Given the description of an element on the screen output the (x, y) to click on. 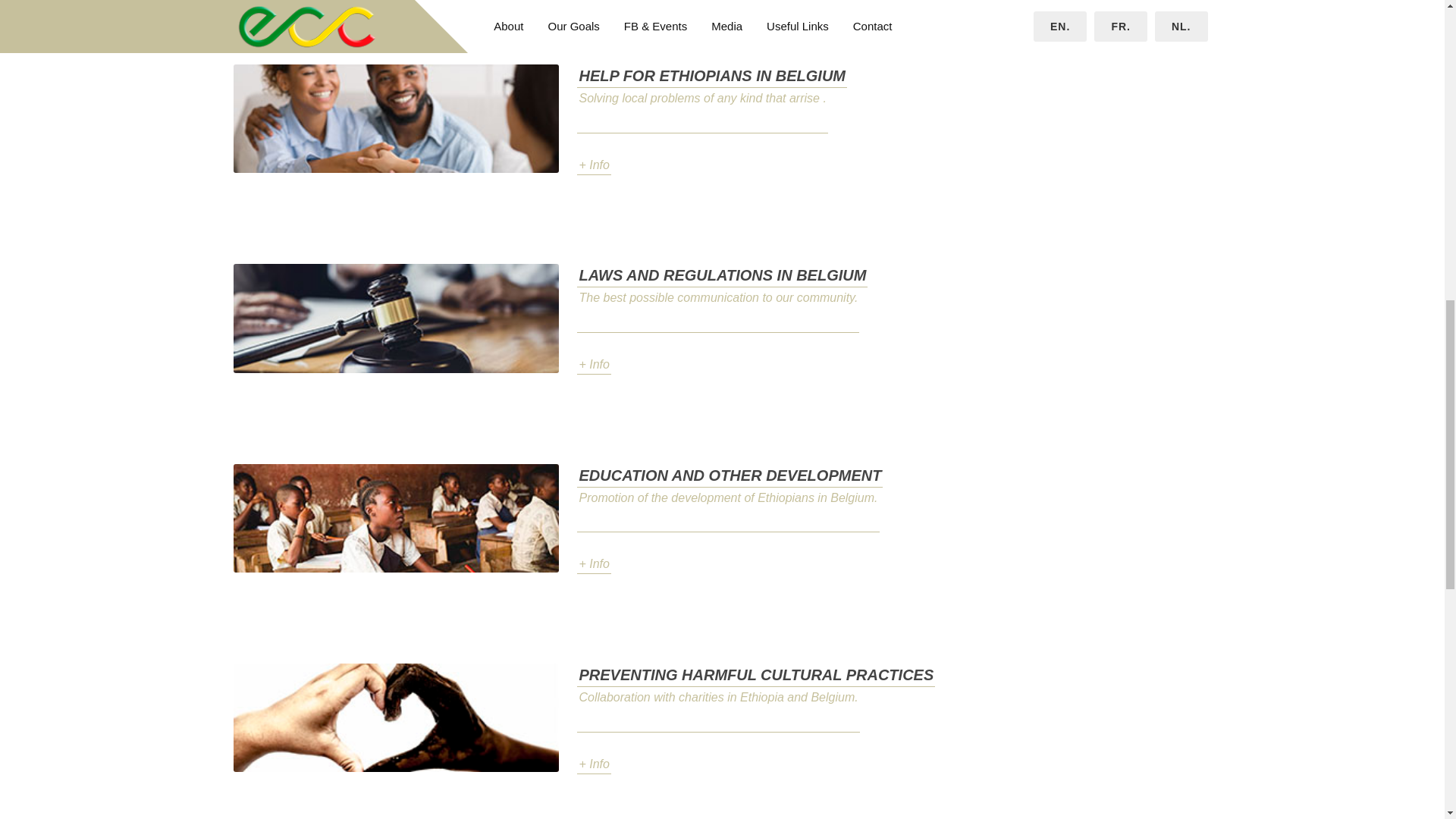
HELP FOR ETHIOPIANS IN BELGIUM (711, 75)
Collaboration with charities in Ethiopia and Belgium. (717, 709)
EDUCATION AND OTHER DEVELOPMENT (729, 475)
Promotion of the development of Ethiopians in Belgium. (727, 510)
Solving local problems of any kind that arrise . (701, 110)
The best possible communication to our community. (717, 309)
PREVENTING HARMFUL CULTURAL PRACTICES (755, 675)
LAWS AND REGULATIONS IN BELGIUM (721, 275)
